Given the description of an element on the screen output the (x, y) to click on. 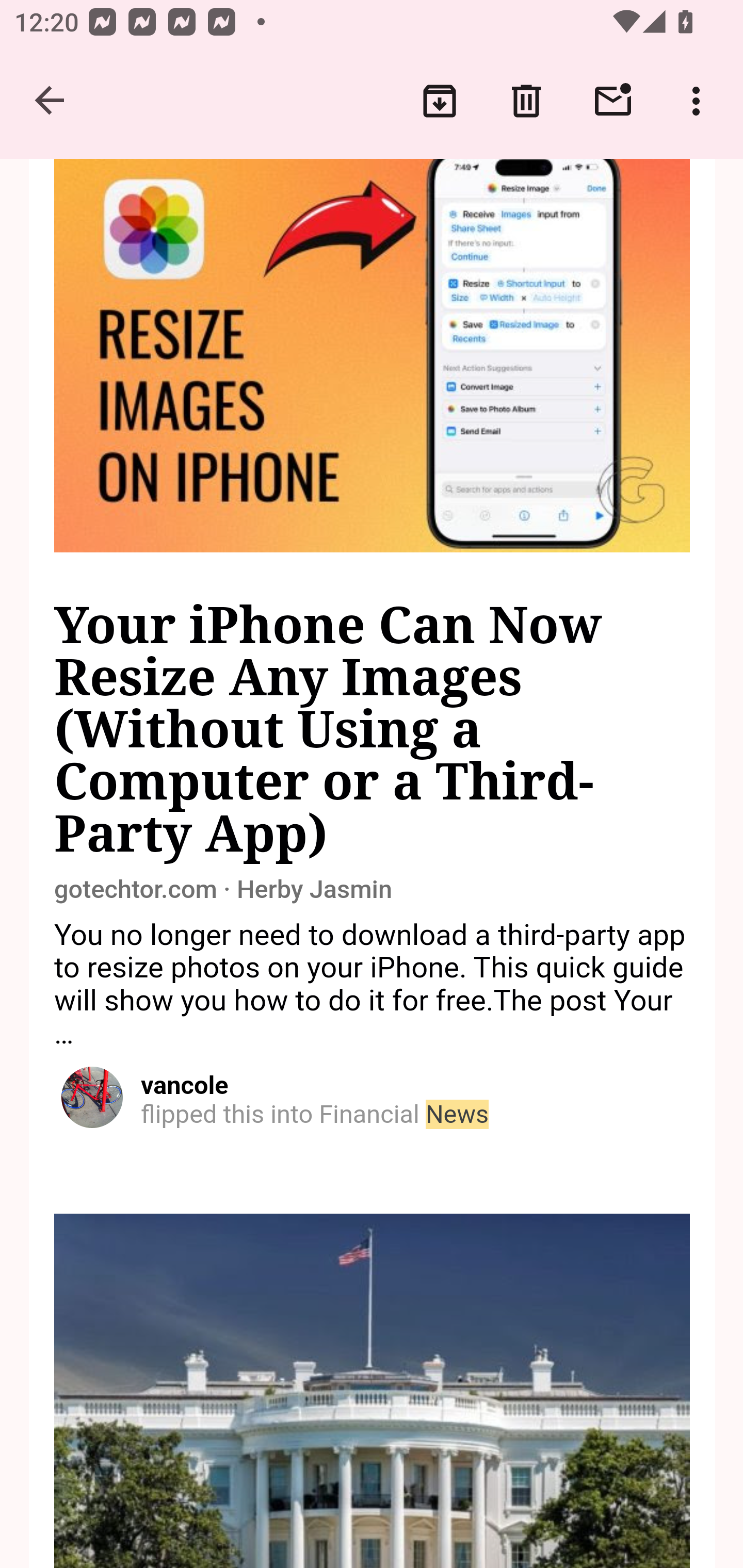
Navigate up (50, 101)
Archive (439, 101)
Delete (525, 101)
Mark unread (612, 101)
More options (699, 101)
Financial News Financial  News (403, 1115)
